Given the description of an element on the screen output the (x, y) to click on. 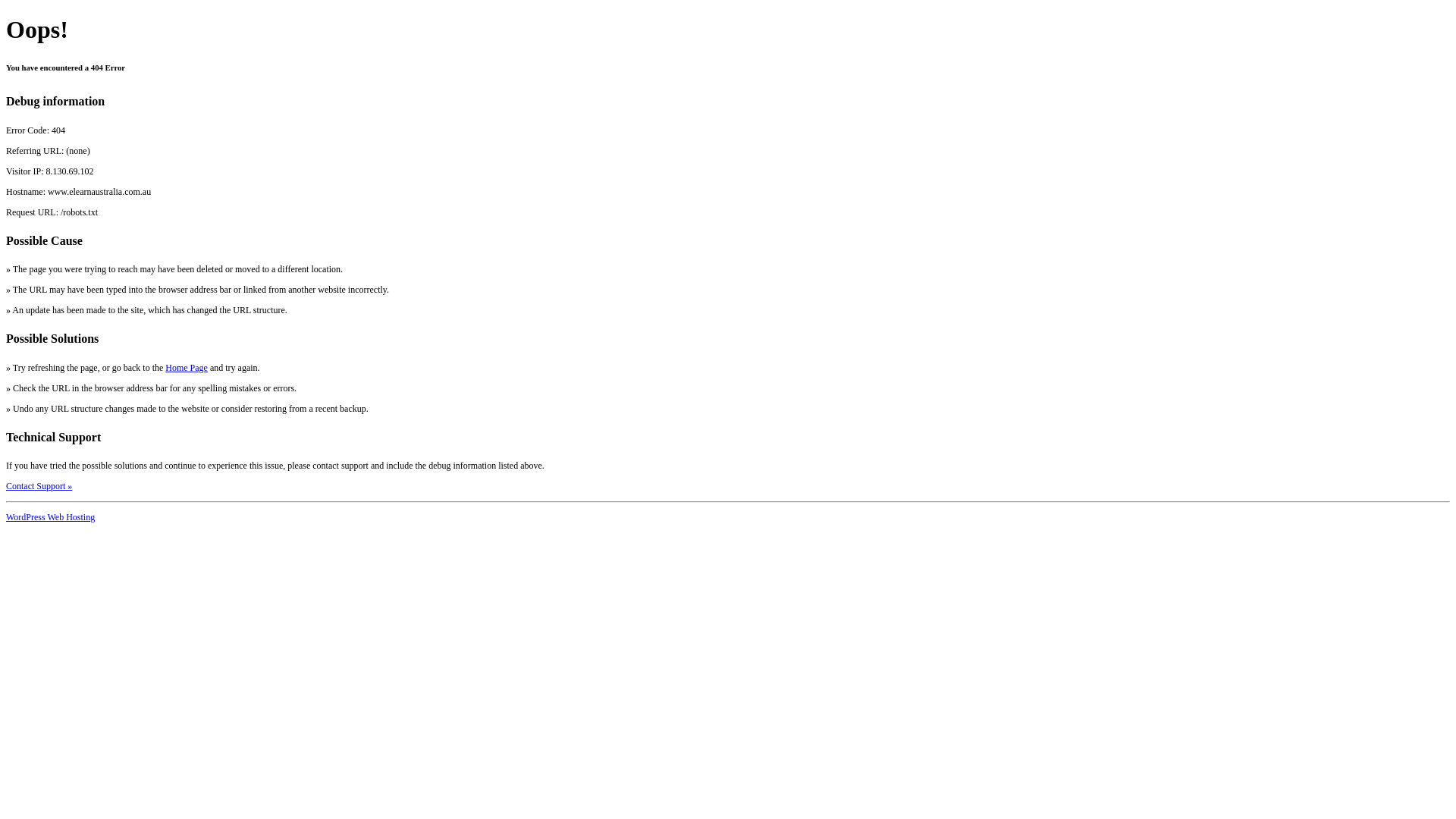
WordPress Web Hosting Element type: text (50, 516)
Home Page Element type: text (186, 367)
